Given the description of an element on the screen output the (x, y) to click on. 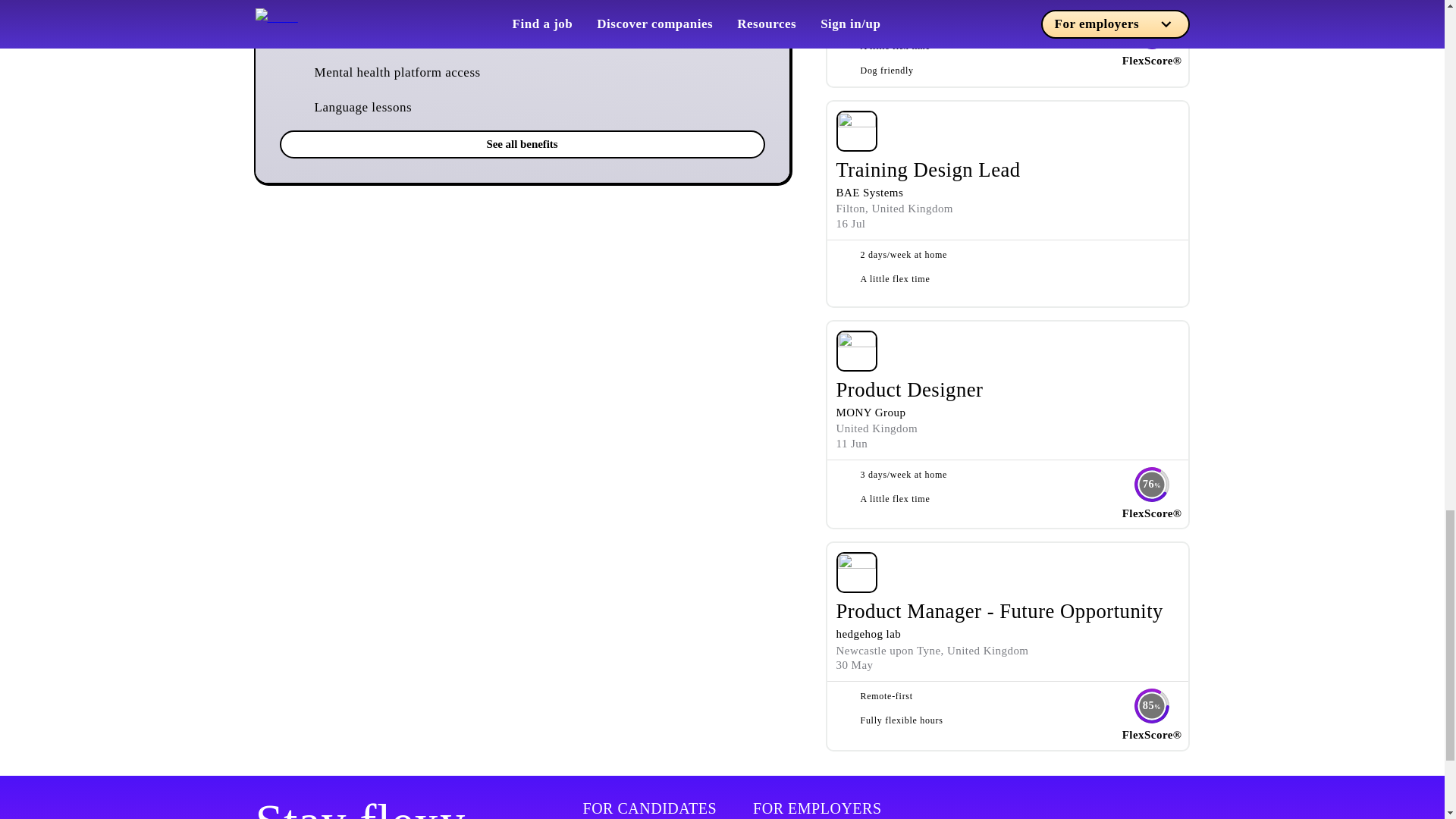
See all benefits (521, 144)
Product Designer (908, 389)
Product Manager - Future Opportunity (998, 610)
Training Design Lead (927, 169)
MONY Group (870, 412)
hedgehog lab (868, 633)
BAE Systems (868, 192)
